Given the description of an element on the screen output the (x, y) to click on. 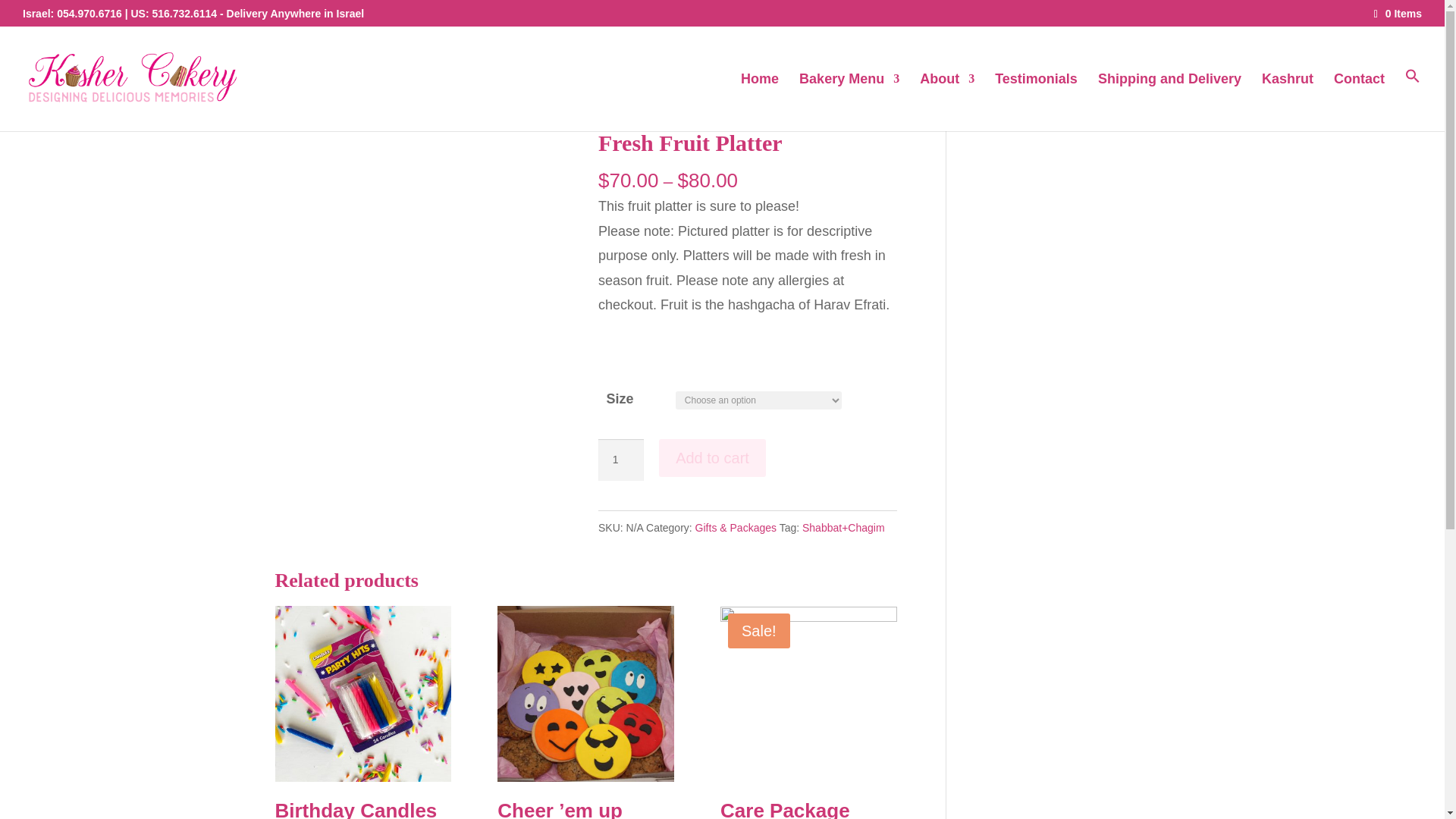
Bakery Menu (849, 101)
1 (620, 459)
About (947, 101)
0 Items (1398, 13)
